Given the description of an element on the screen output the (x, y) to click on. 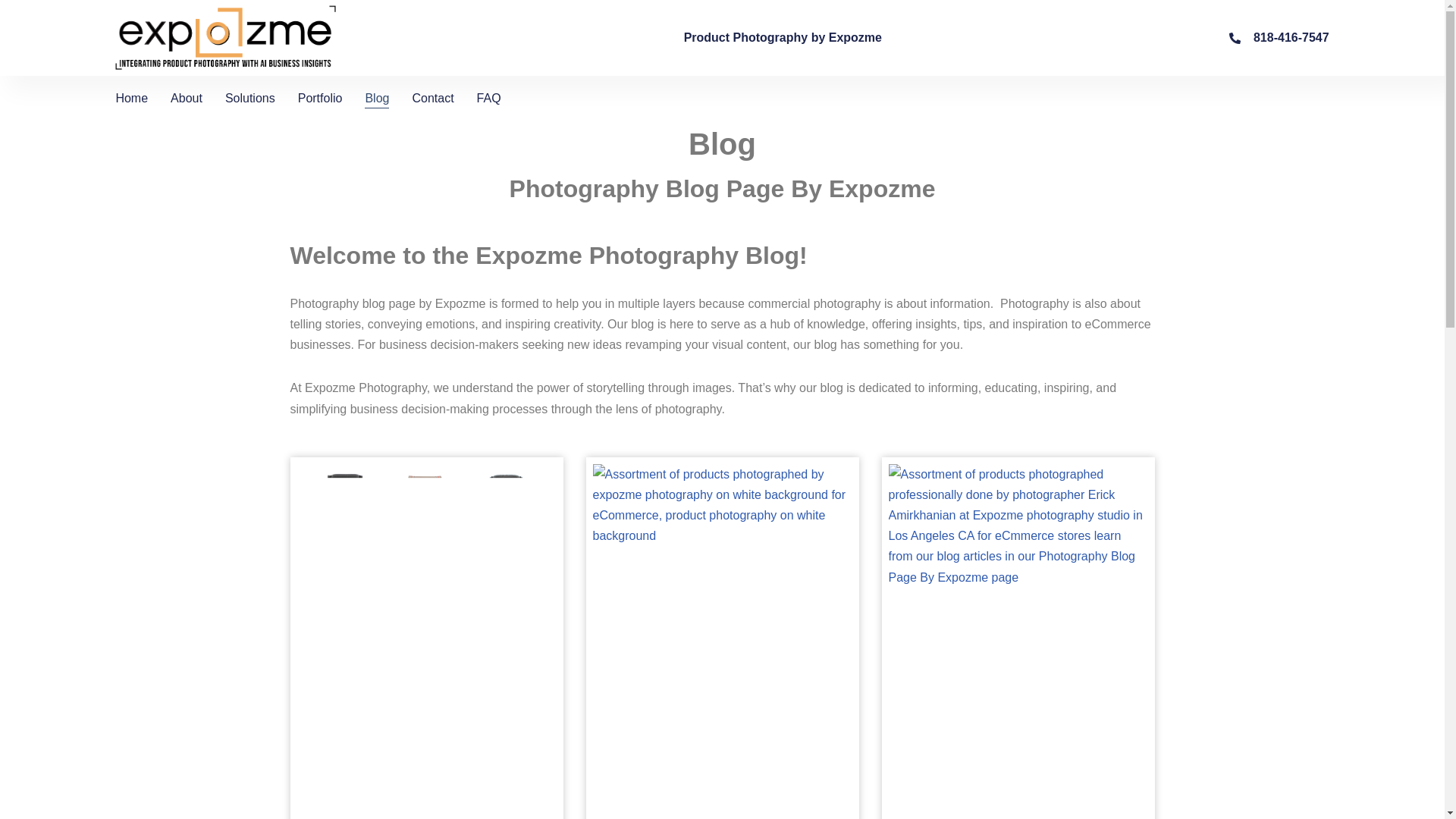
Contact (432, 98)
Portfolio (320, 98)
Blog (376, 98)
Solutions (250, 98)
FAQ (488, 98)
Home (131, 98)
About (186, 98)
Skip to content (11, 31)
